Given the description of an element on the screen output the (x, y) to click on. 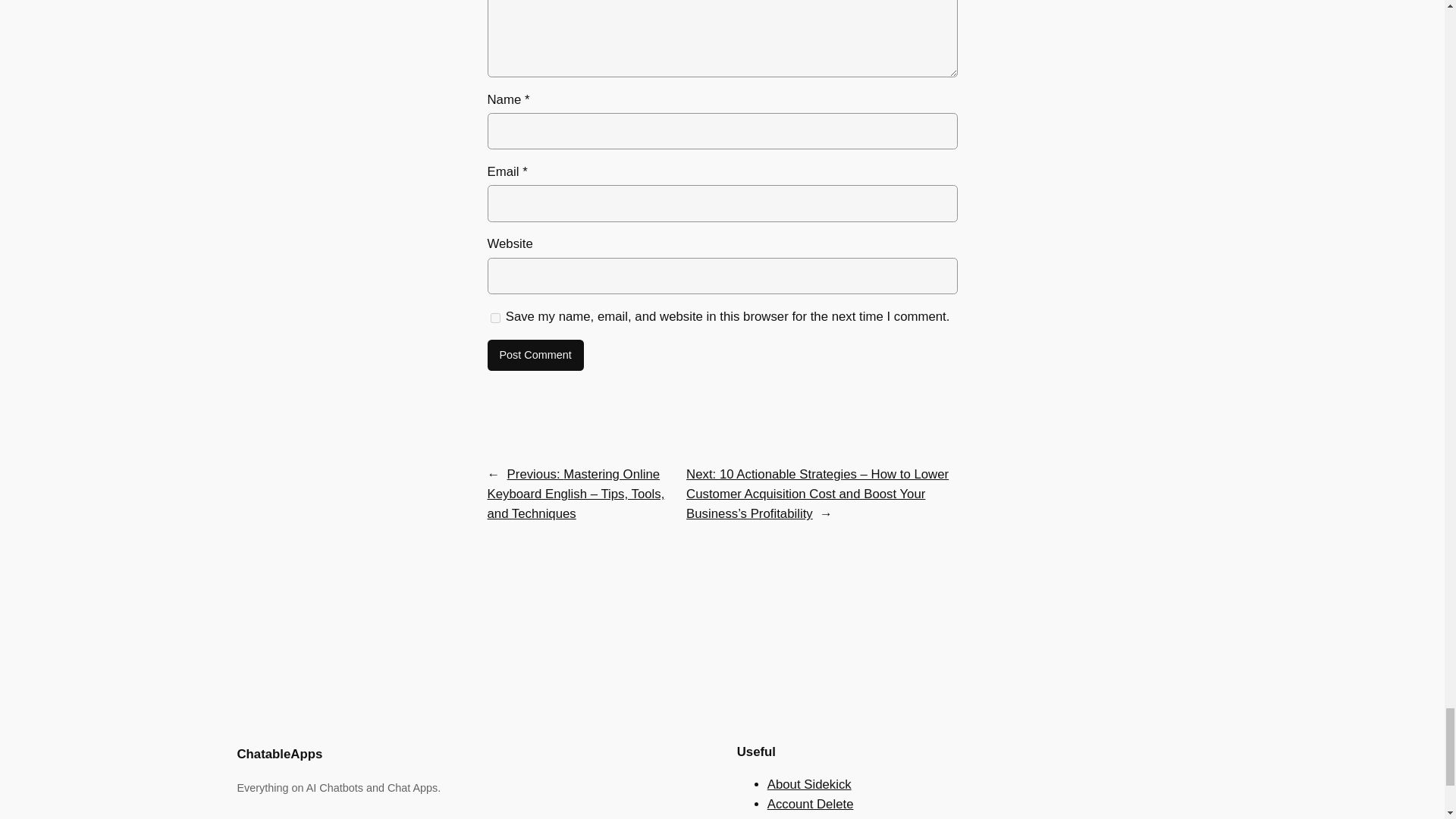
ChatableApps (278, 753)
Post Comment (534, 355)
Contact (788, 817)
Post Comment (534, 355)
About Sidekick (809, 784)
Account Delete (810, 803)
